Given the description of an element on the screen output the (x, y) to click on. 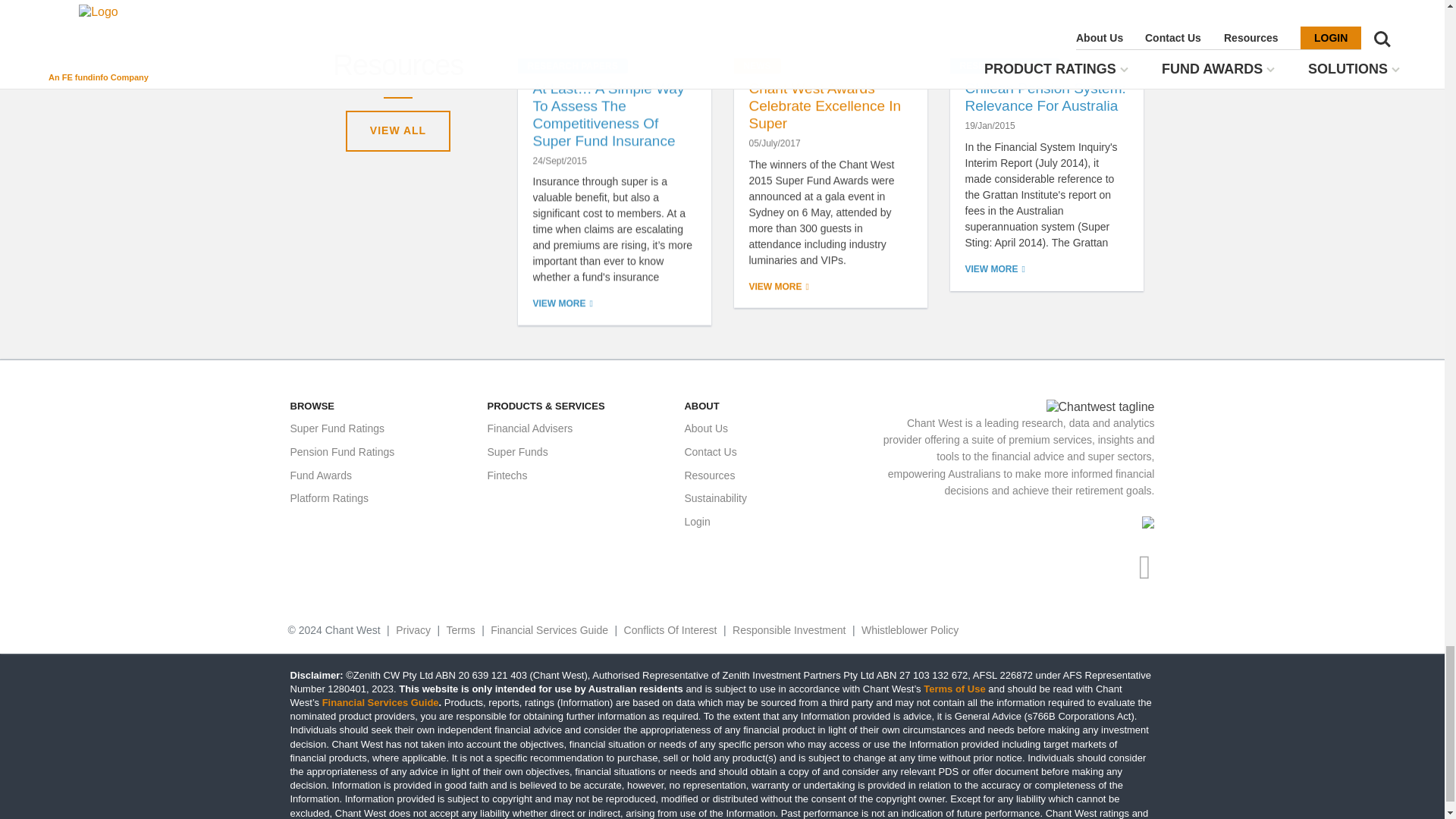
VIEW MORE (562, 303)
VIEW MORE (994, 268)
VIEW ALL (397, 130)
VIEW MORE (779, 286)
